Given the description of an element on the screen output the (x, y) to click on. 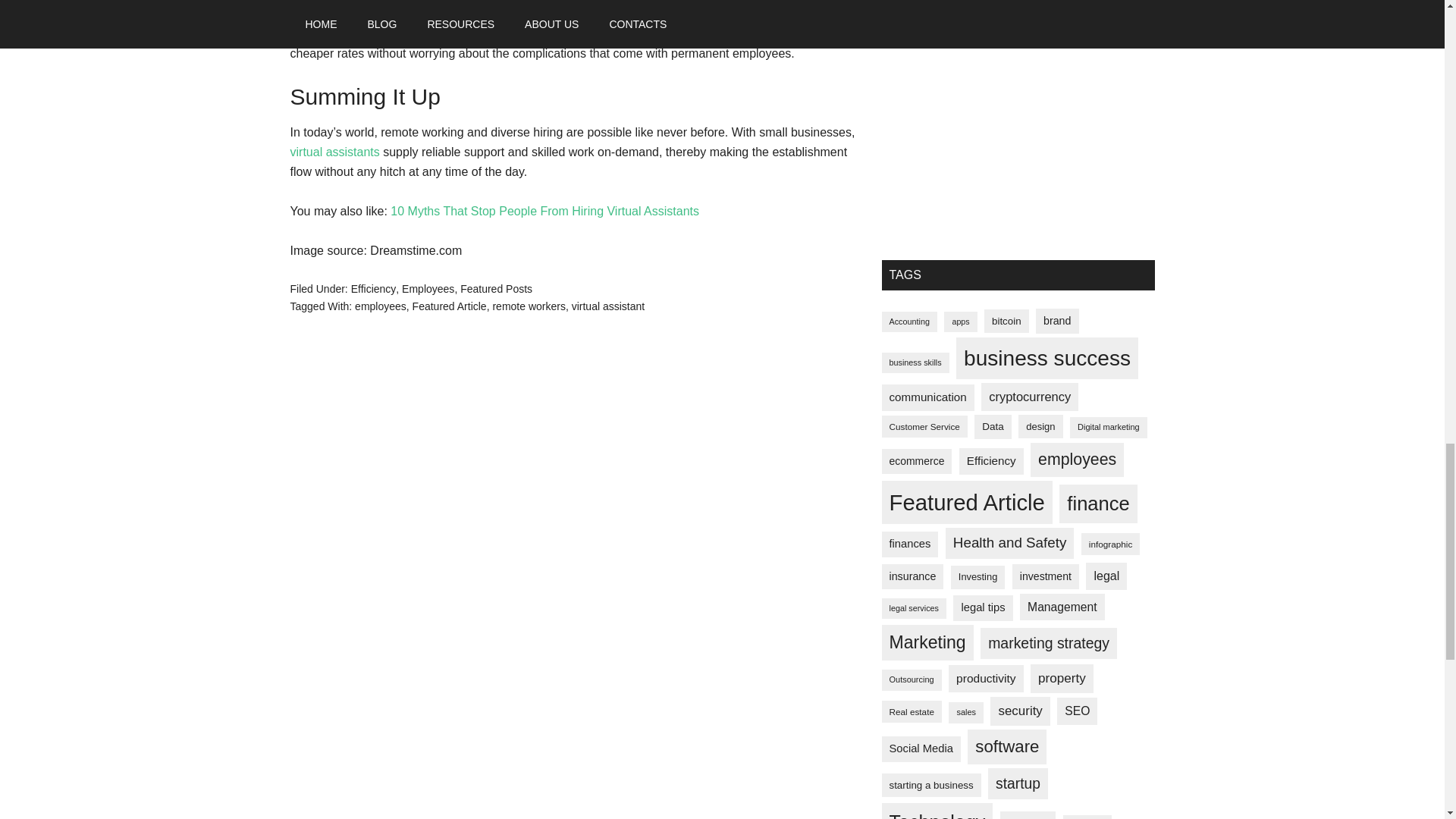
remote workers (528, 306)
Efficiency (373, 288)
Employees (427, 288)
Featured Posts (496, 288)
10 Myths That Stop People From Hiring Virtual Assistants (544, 210)
virtual assistants (333, 151)
virtual assistant (608, 306)
employees (380, 306)
Featured Article (449, 306)
